Given the description of an element on the screen output the (x, y) to click on. 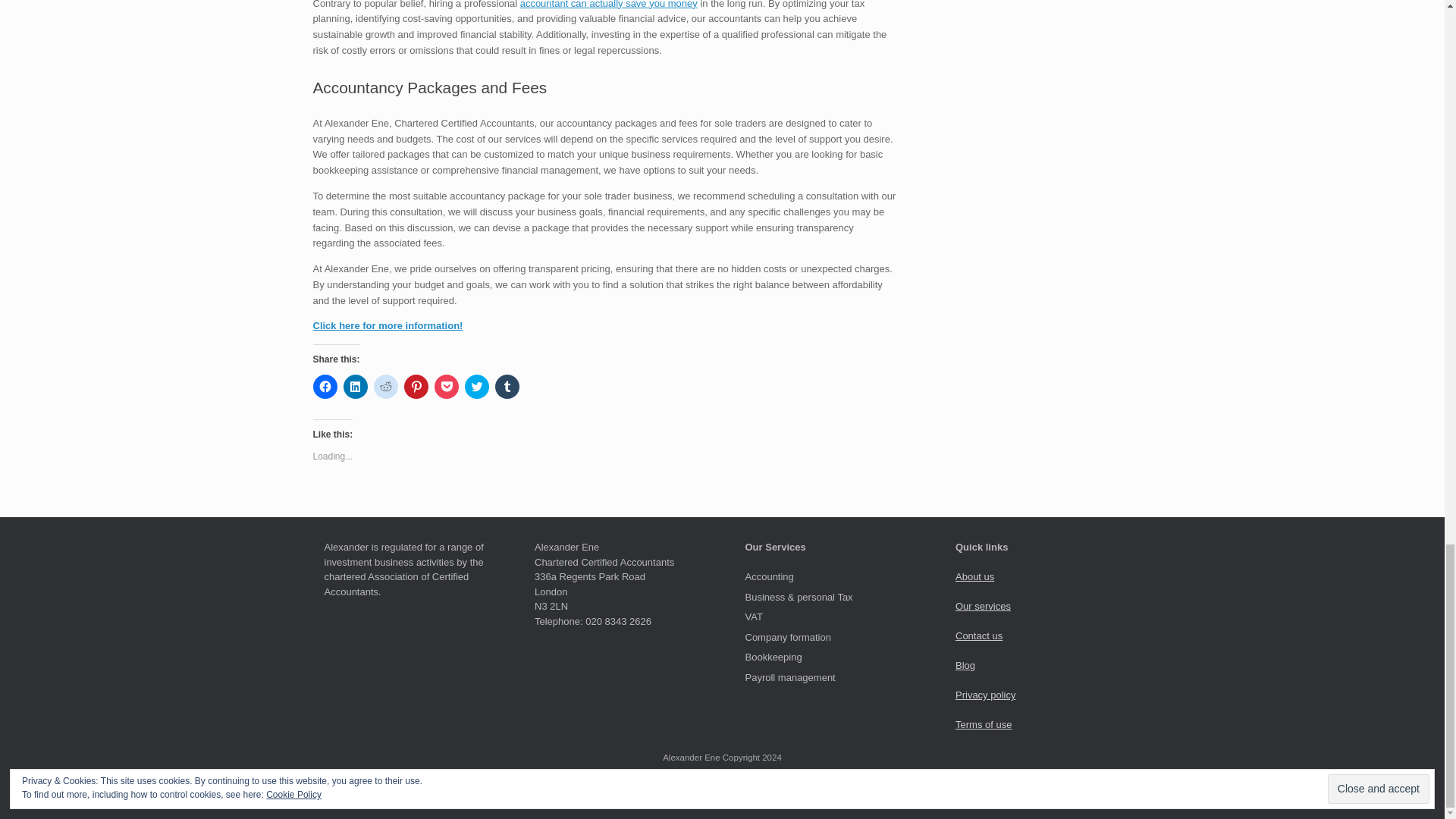
Click to share on Facebook (324, 386)
Click to share on Twitter (475, 386)
Click to share on Pinterest (415, 386)
accountant can actually save you money (608, 4)
Click here for more information! (388, 325)
Click to share on Reddit (384, 386)
Click to share on Pocket (445, 386)
Click to share on Tumblr (506, 386)
Click to share on LinkedIn (354, 386)
